Given the description of an element on the screen output the (x, y) to click on. 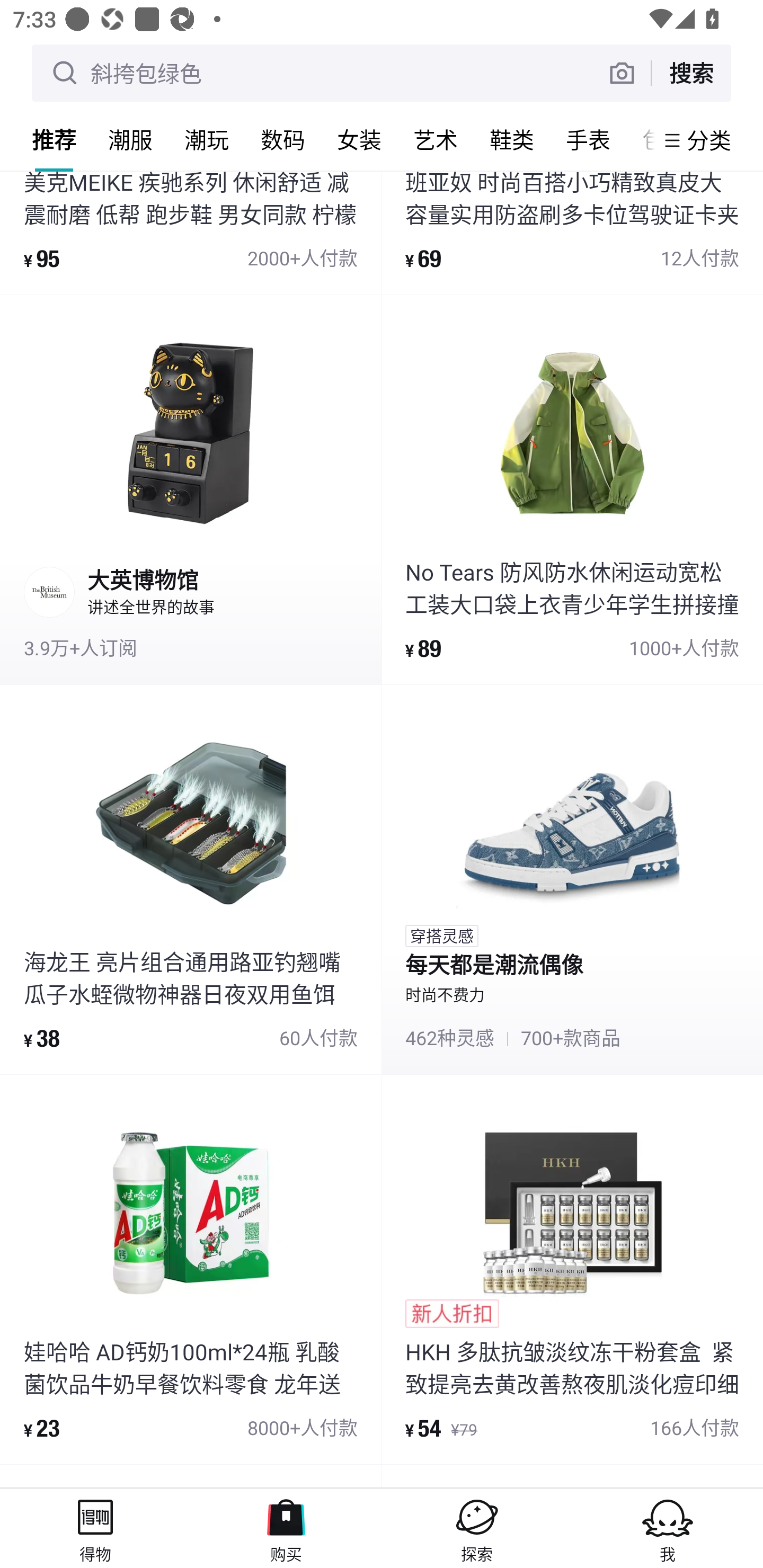
搜索 (690, 72)
推荐 (54, 139)
潮服 (130, 139)
潮玩 (206, 139)
数码 (282, 139)
女装 (359, 139)
艺术 (435, 139)
鞋类 (511, 139)
手表 (588, 139)
分类 (708, 139)
大英博物馆 讲述全世界的故事 3.9万+人订阅 (190, 488)
穿搭灵感 每天都是潮流偶像 时尚不费力 462种灵感 # 700+款商品 (572, 879)
得物 (95, 1528)
购买 (285, 1528)
探索 (476, 1528)
我 (667, 1528)
